Given the description of an element on the screen output the (x, y) to click on. 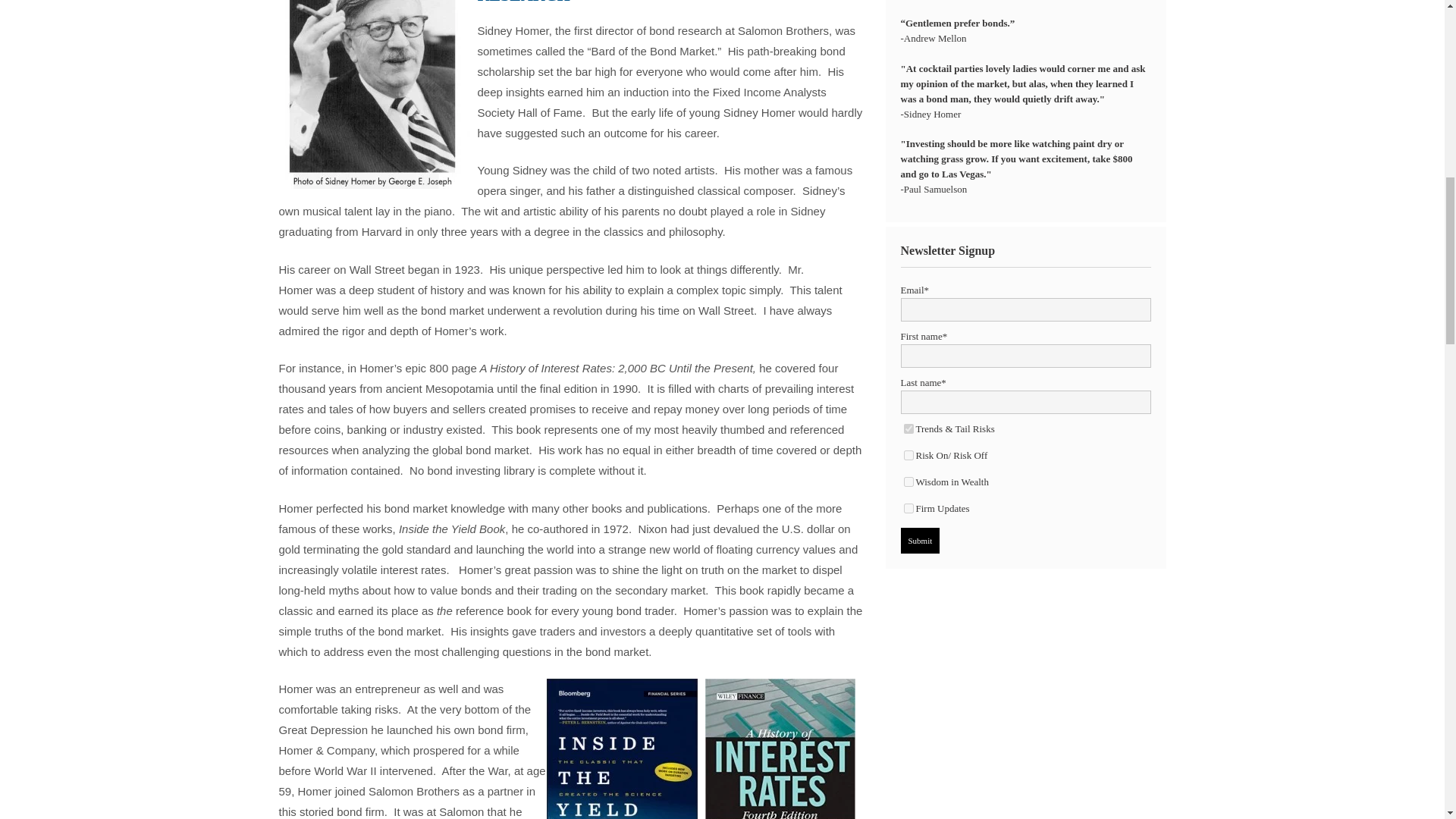
Submit (920, 540)
true (909, 508)
true (909, 481)
Submit (920, 540)
true (909, 455)
true (909, 429)
